Given the description of an element on the screen output the (x, y) to click on. 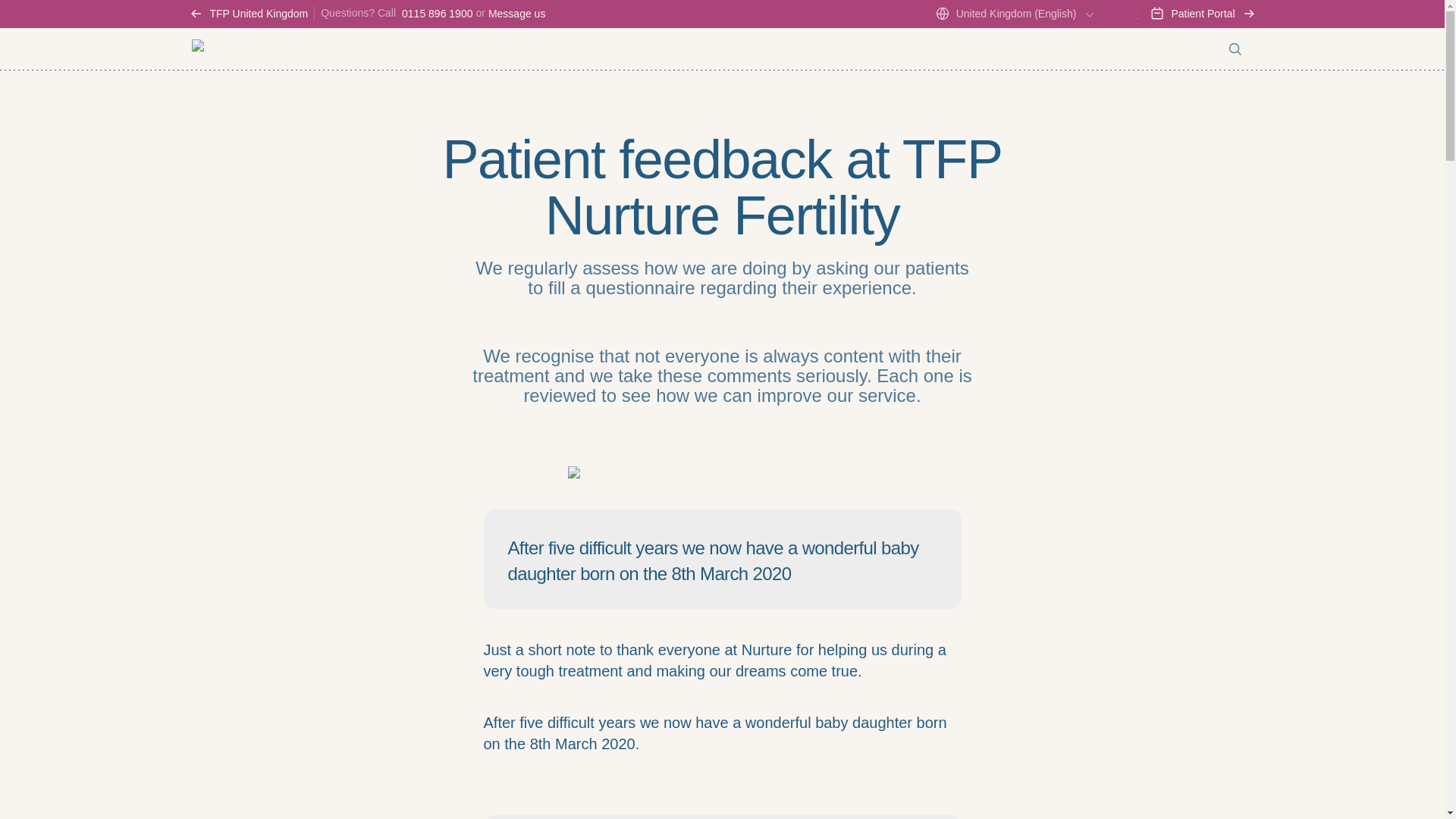
0115 896 1900 (436, 13)
TFP United Kingdom (250, 13)
Message us (515, 13)
Patient Portal (1202, 13)
